Given the description of an element on the screen output the (x, y) to click on. 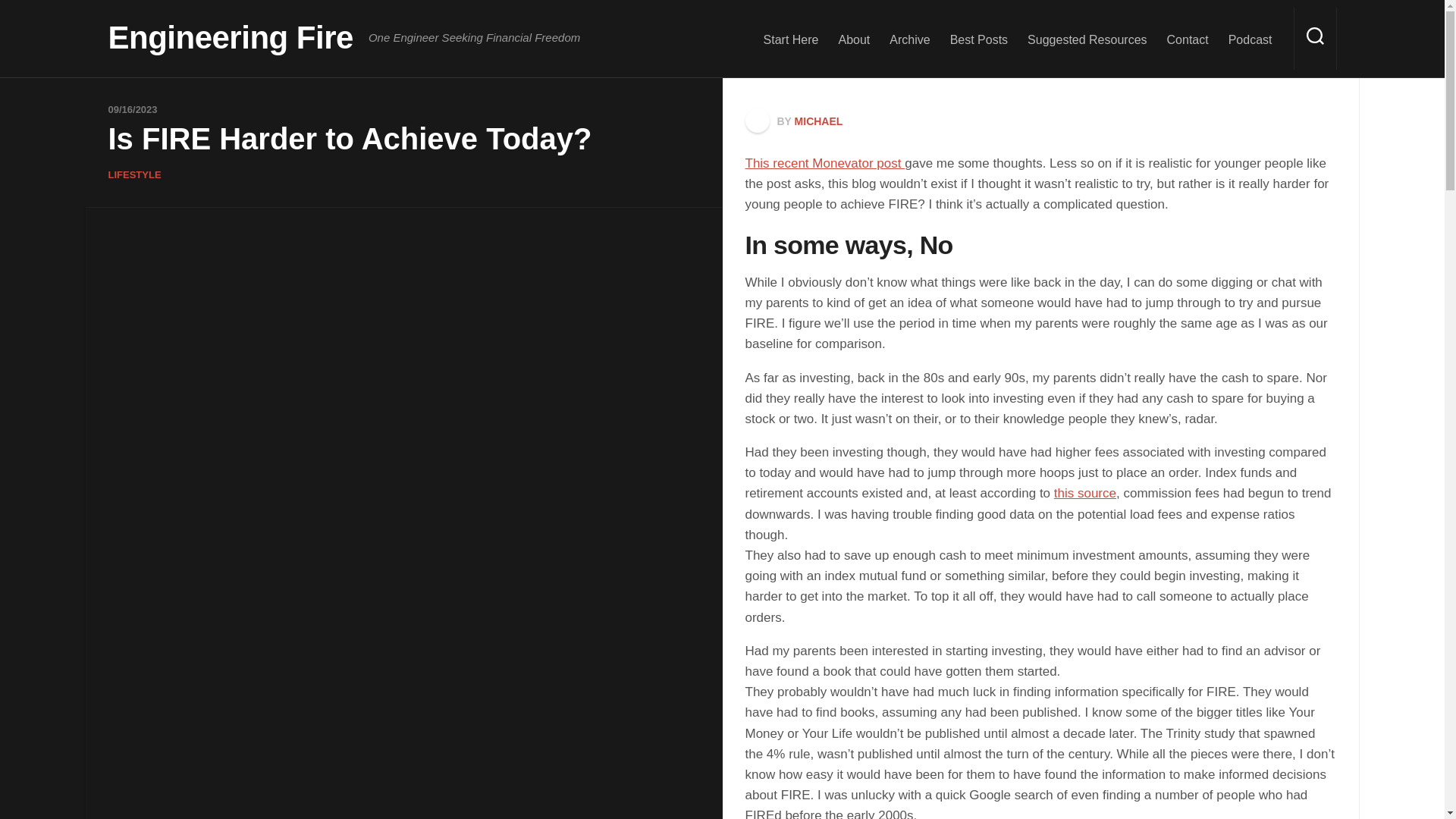
Podcast (1250, 39)
Posts by Michael (818, 121)
Suggested Resources (1087, 39)
About (853, 39)
this source (1085, 493)
This recent Monevator post (824, 163)
LIFESTYLE (133, 174)
Start Here (790, 39)
This recent Monevator post  (824, 163)
this source (1085, 493)
Best Posts (978, 39)
Contact (1187, 39)
Engineering Fire (229, 37)
Archive (909, 39)
MICHAEL (818, 121)
